Given the description of an element on the screen output the (x, y) to click on. 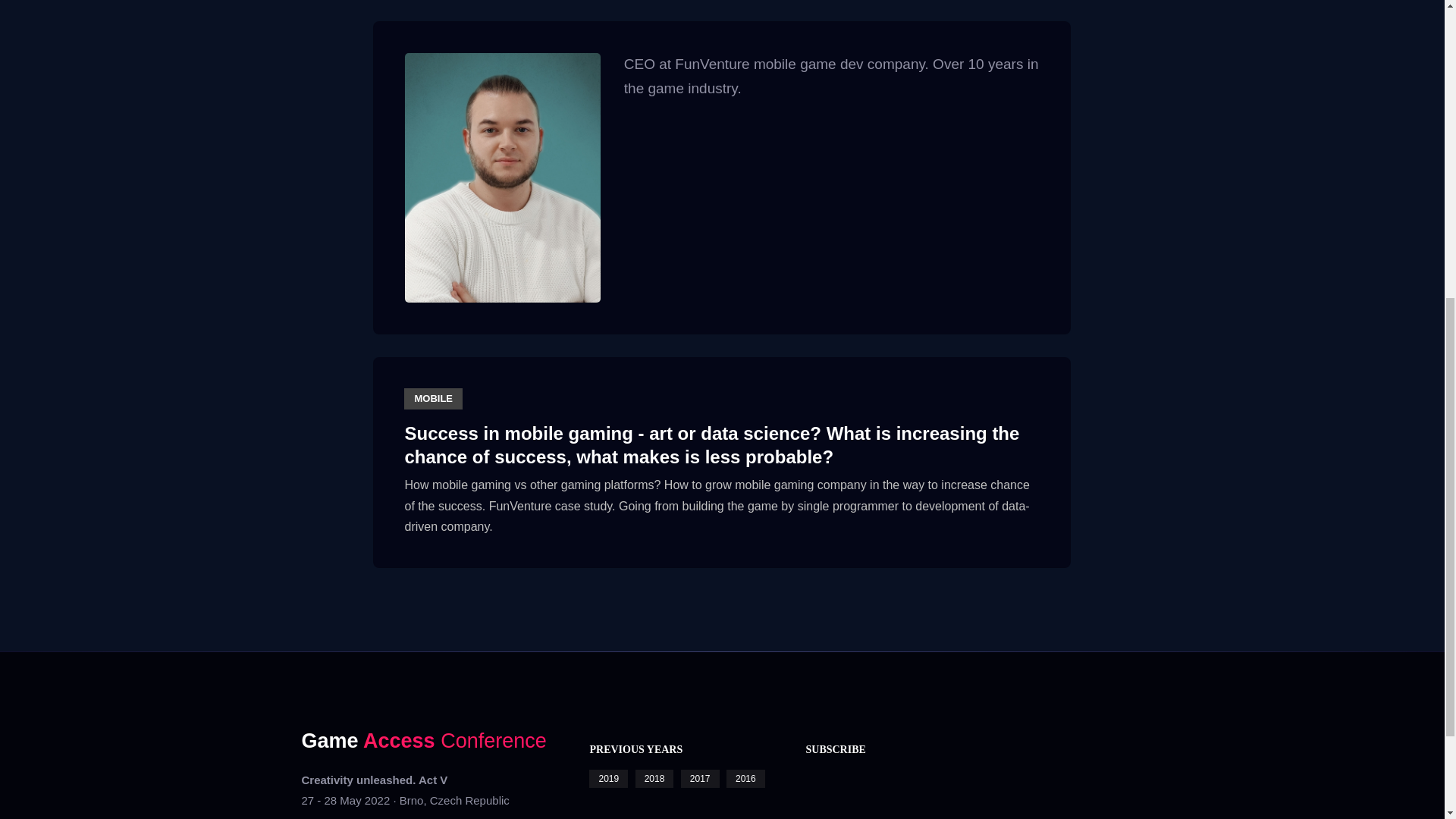
2018 (654, 778)
2016 (745, 778)
2019 (608, 778)
2017 (700, 778)
